Given the description of an element on the screen output the (x, y) to click on. 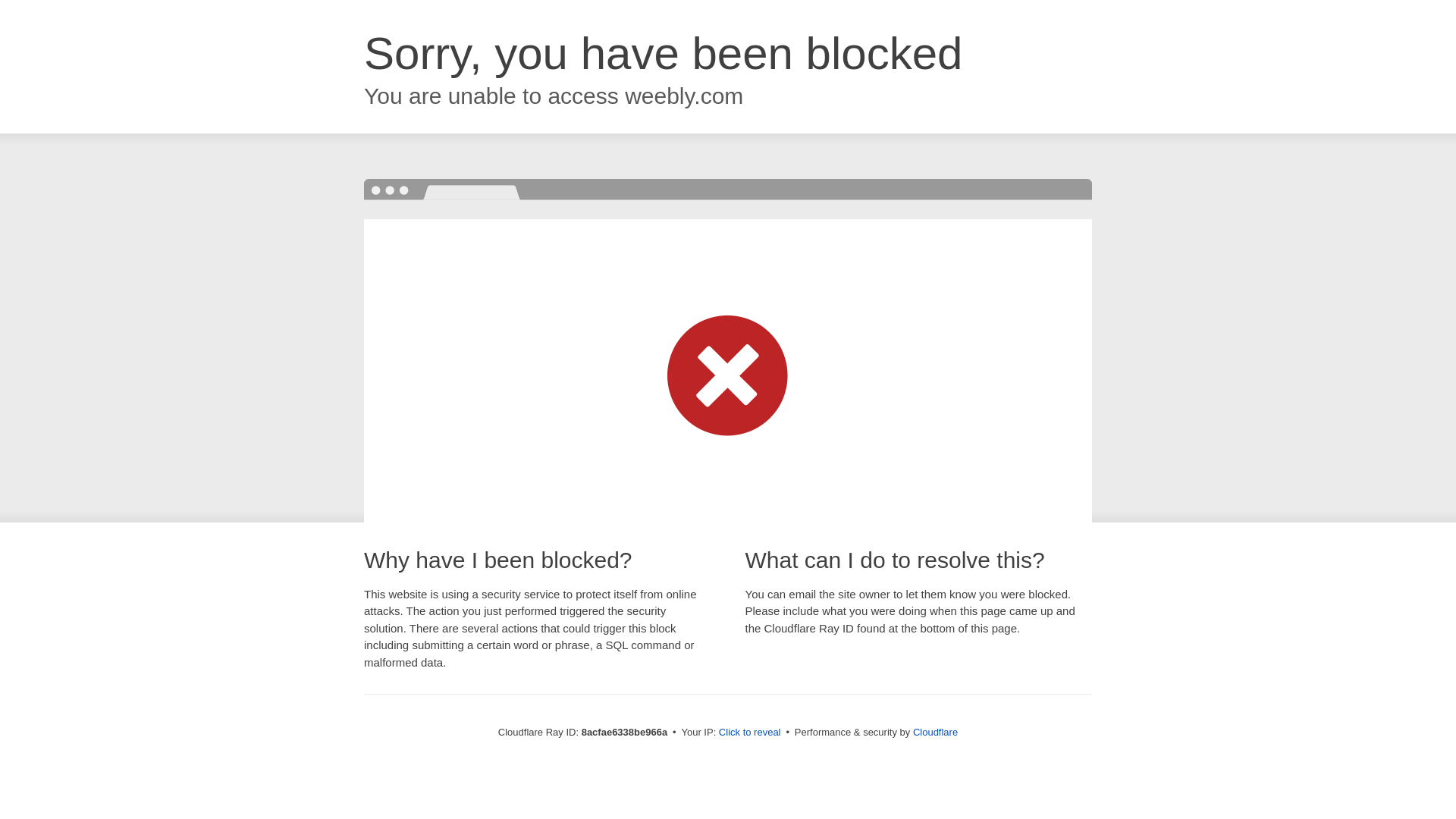
Cloudflare (935, 731)
Click to reveal (749, 732)
